Given the description of an element on the screen output the (x, y) to click on. 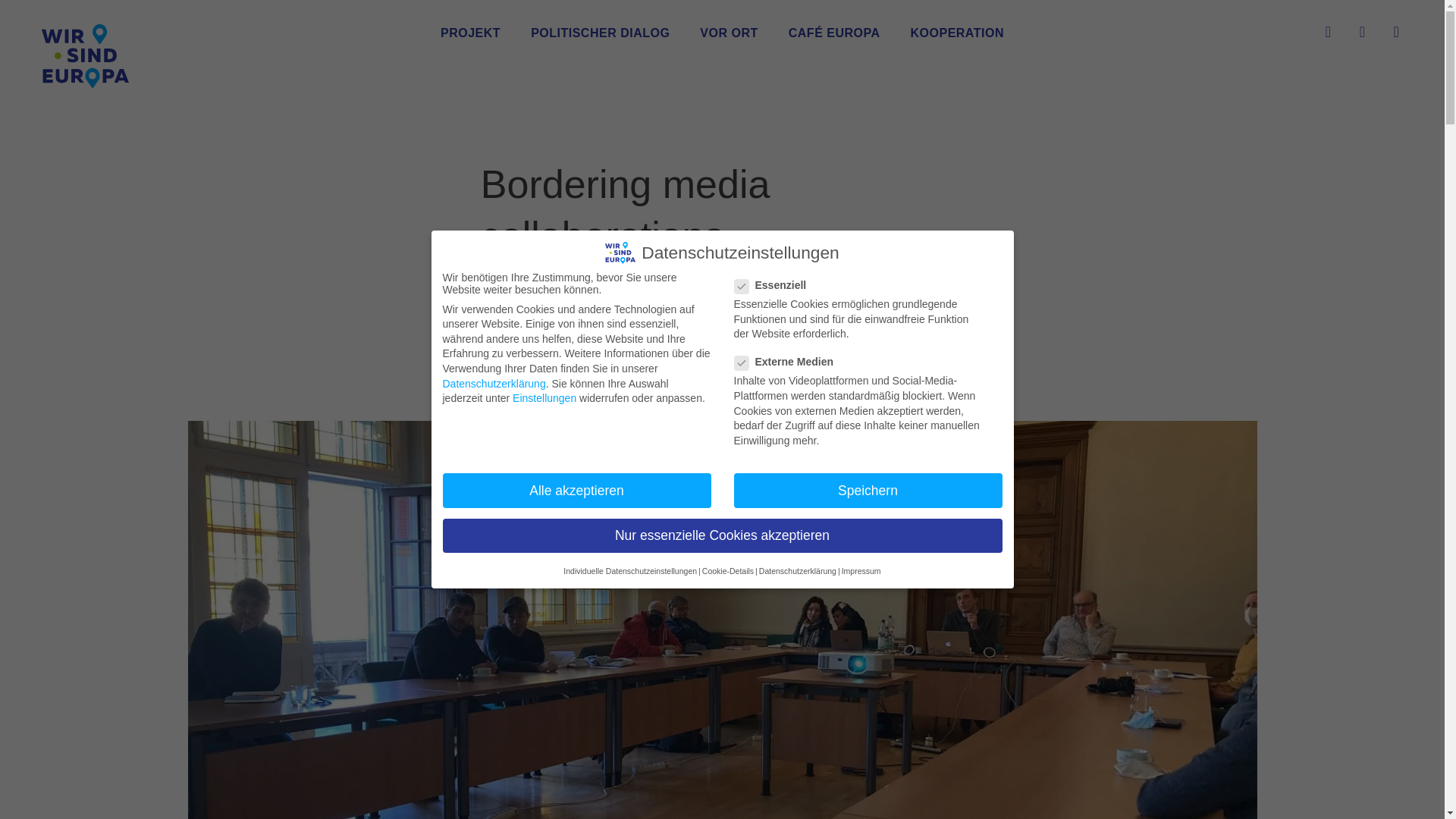
POLITISCHER DIALOG (600, 33)
Einstellungen (544, 398)
Impressum (860, 570)
KOOPERATION (957, 33)
Individuelle Datenschutzeinstellungen (630, 570)
Nur essenzielle Cookies akzeptieren (722, 535)
Speichern (868, 490)
PROJEKT (470, 33)
Cookie-Details (727, 570)
Alle akzeptieren (576, 490)
